Given the description of an element on the screen output the (x, y) to click on. 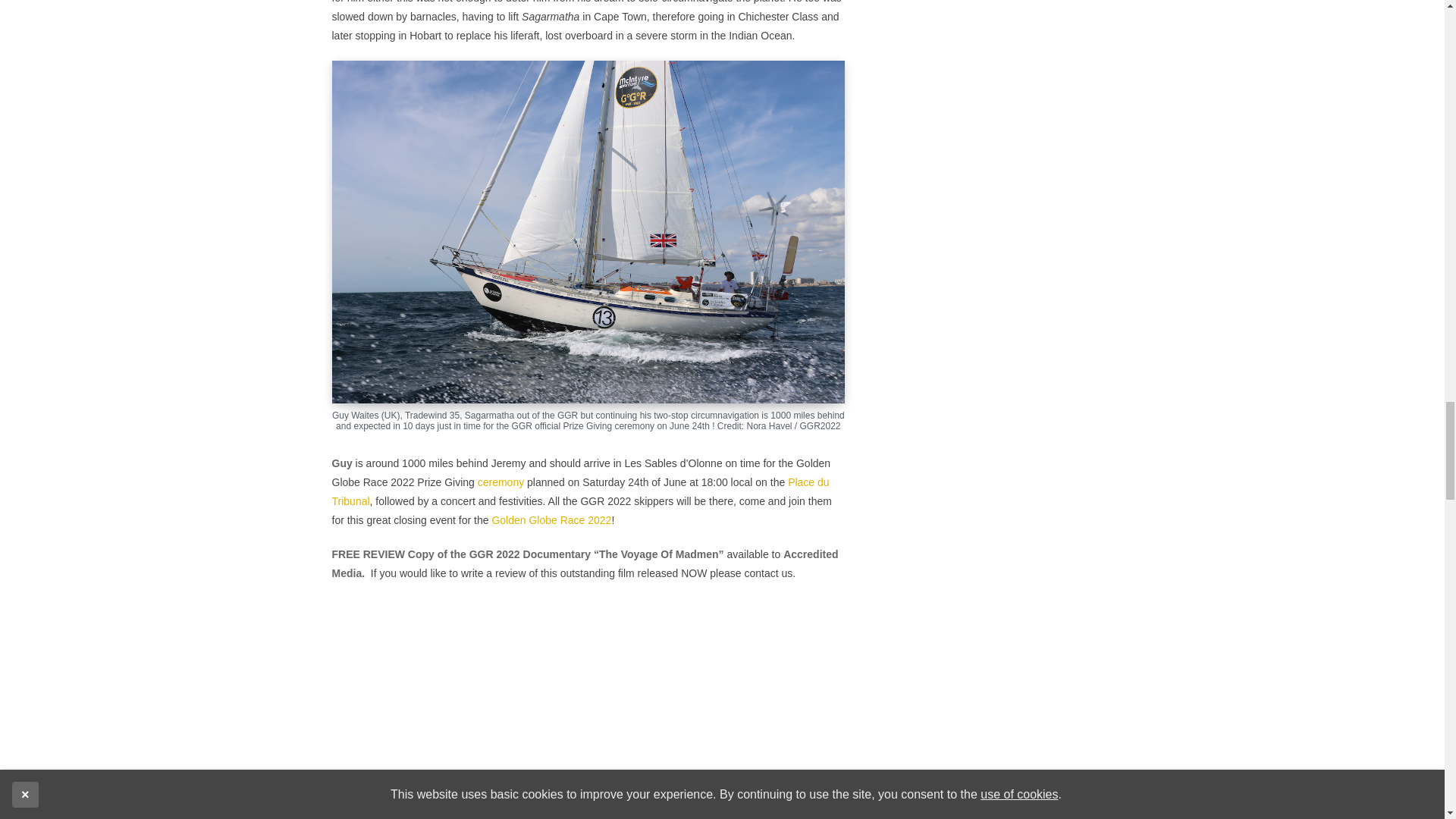
The Voyage of Madmen (588, 712)
